Given the description of an element on the screen output the (x, y) to click on. 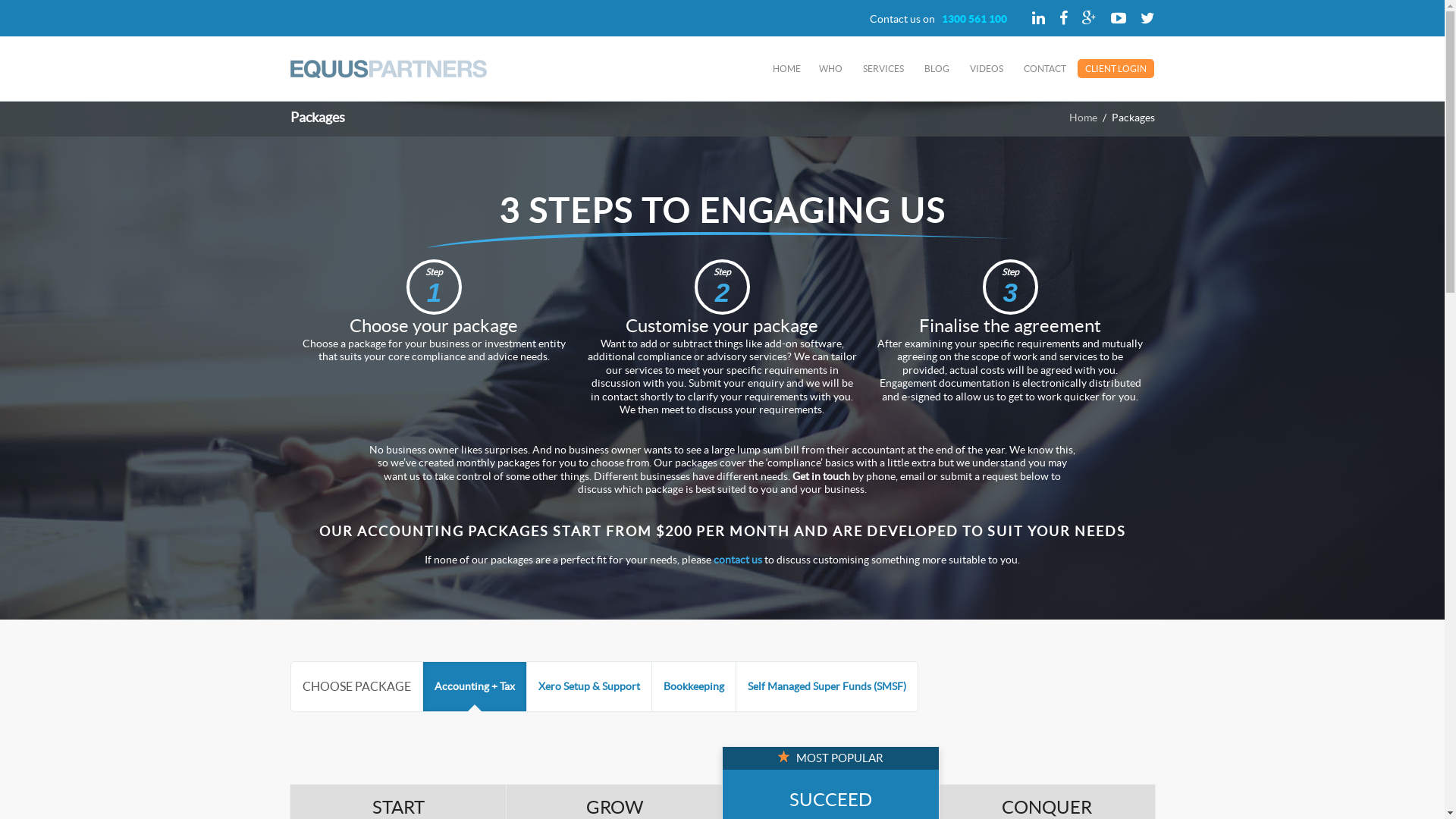
SERVICES Element type: text (883, 68)
1300 561 100 Element type: text (974, 18)
contact us Element type: text (737, 559)
Home Element type: text (1083, 117)
HOME Element type: text (786, 68)
CONTACT Element type: text (1044, 68)
WHO Element type: text (830, 68)
CLIENT LOGIN Element type: text (1115, 68)
VIDEOS Element type: text (986, 68)
BLOG Element type: text (936, 68)
